Given the description of an element on the screen output the (x, y) to click on. 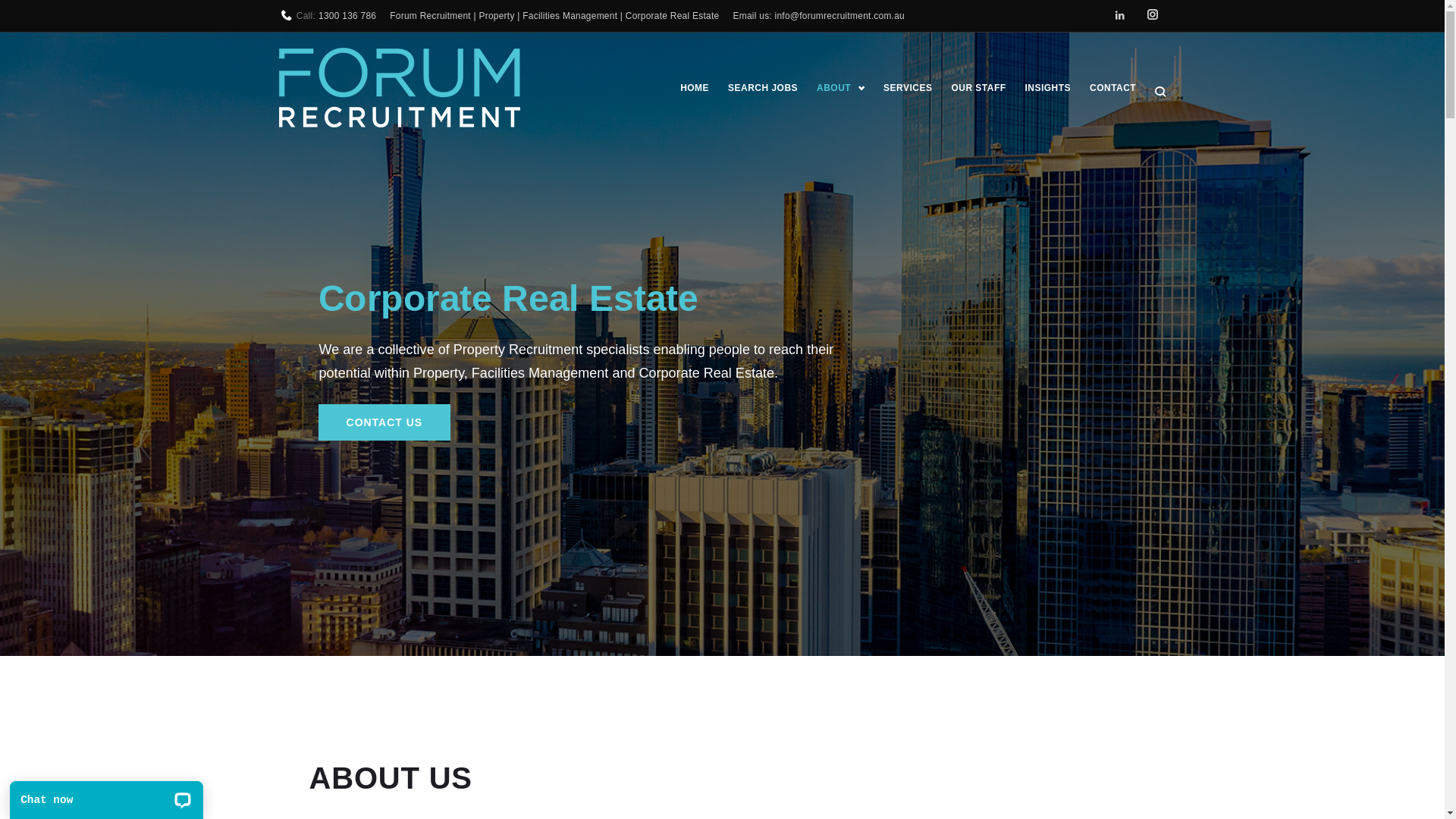
CONTACT US Element type: text (384, 422)
SEARCH JOBS Element type: text (762, 88)
CONTACT Element type: text (1112, 88)
OUR STAFF Element type: text (977, 88)
ABOUT Element type: text (840, 88)
info@forumrecruitment.com.au Element type: text (839, 15)
HOME Element type: text (694, 88)
SERVICES Element type: text (907, 88)
1300 136 786 Element type: text (347, 15)
INSIGHTS Element type: text (1048, 88)
